Given the description of an element on the screen output the (x, y) to click on. 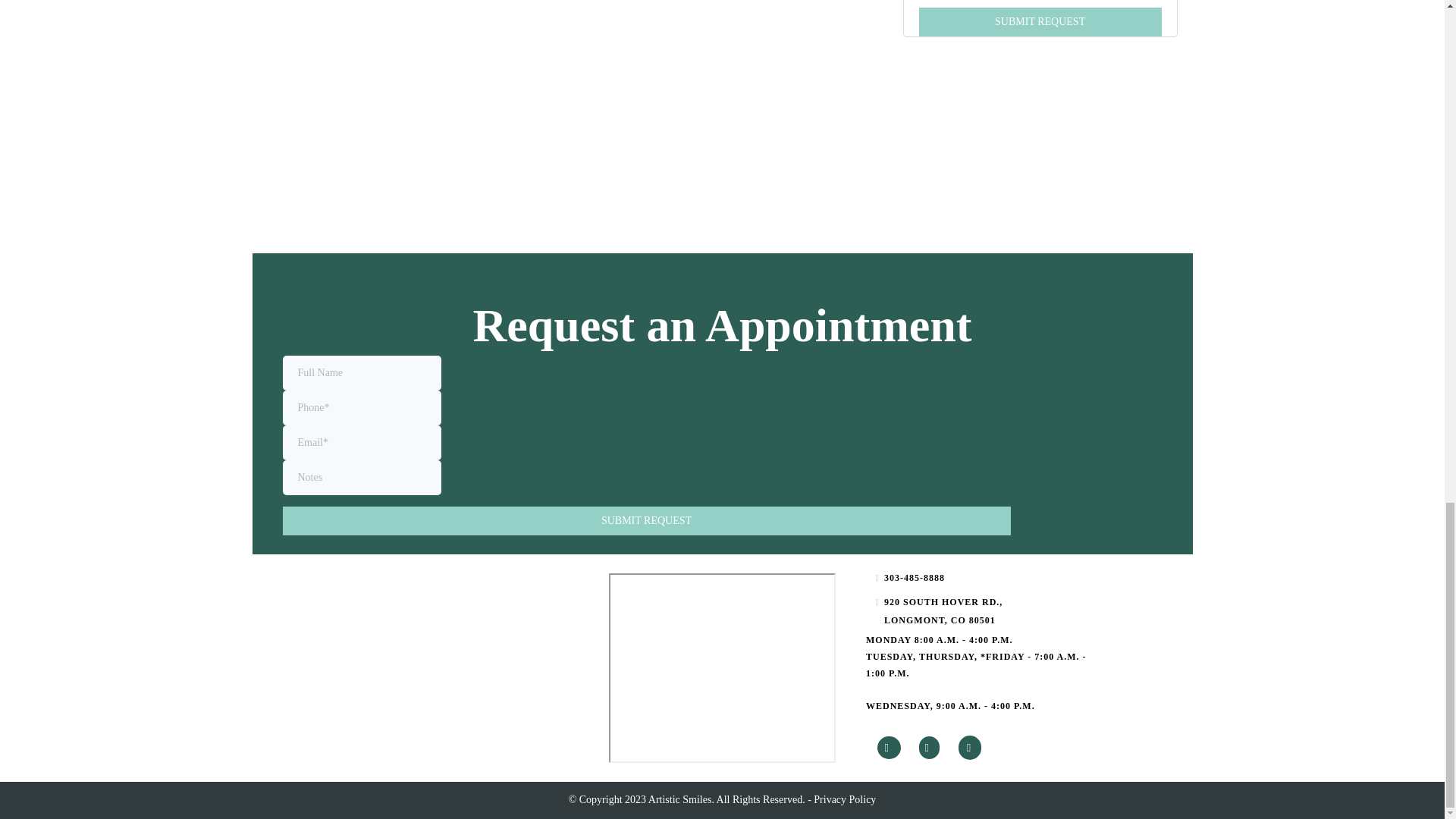
Google Map (721, 667)
